Given the description of an element on the screen output the (x, y) to click on. 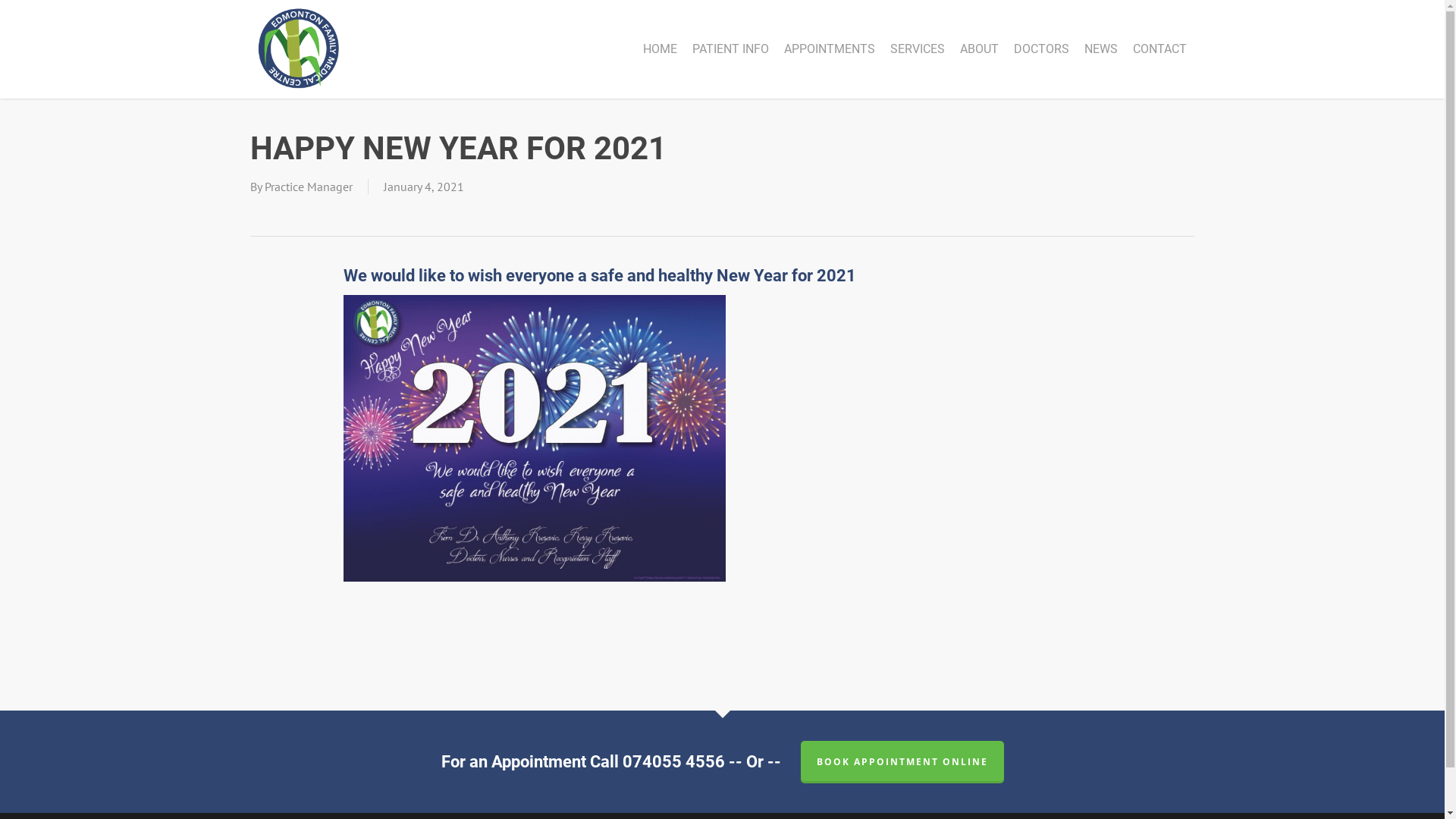
HOME Element type: text (659, 48)
CONTACT Element type: text (1159, 48)
ABOUT Element type: text (979, 48)
BOOK APPOINTMENT ONLINE Element type: text (902, 761)
DOCTORS Element type: text (1041, 48)
Practice Manager Element type: text (308, 186)
SERVICES Element type: text (917, 48)
NEWS Element type: text (1100, 48)
PATIENT INFO Element type: text (730, 48)
APPOINTMENTS Element type: text (829, 48)
